Given the description of an element on the screen output the (x, y) to click on. 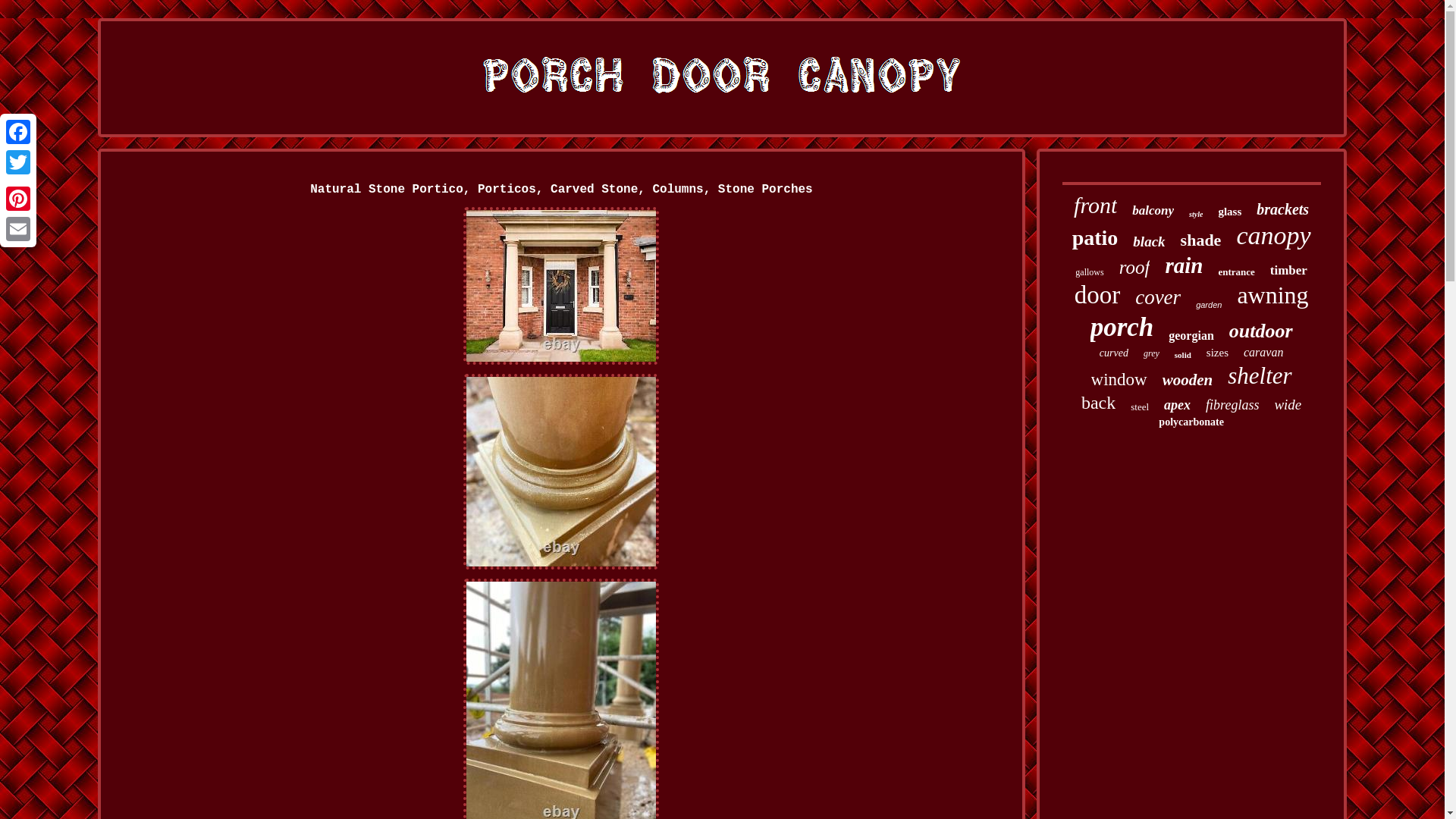
Facebook (17, 132)
rain (1183, 265)
grey (1150, 353)
garden (1208, 304)
front (1095, 205)
timber (1288, 270)
canopy (1273, 235)
door (1097, 295)
gallows (1089, 272)
roof (1134, 267)
outdoor (1260, 331)
wooden (1186, 380)
Pinterest (17, 198)
Email (17, 228)
georgian (1191, 336)
